Given the description of an element on the screen output the (x, y) to click on. 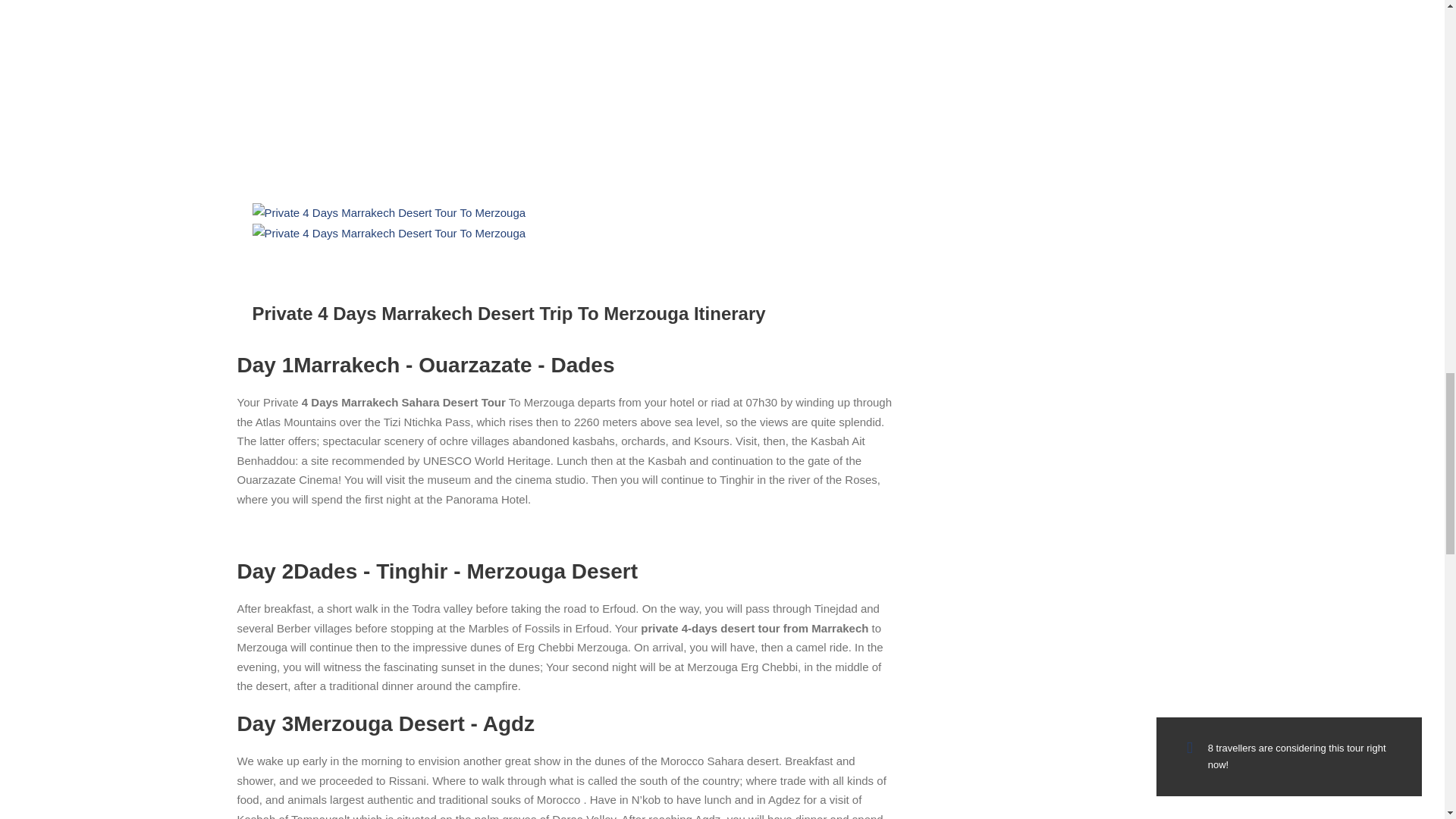
Private 4 Days Marrakech Desert Tour To Merzouga (388, 233)
Priavte-3-Days-Marrakech-To-Fes-Desert-Tour (478, 101)
Private 4 Days Marrakech Desert Tour To Merzouga (388, 212)
